Given the description of an element on the screen output the (x, y) to click on. 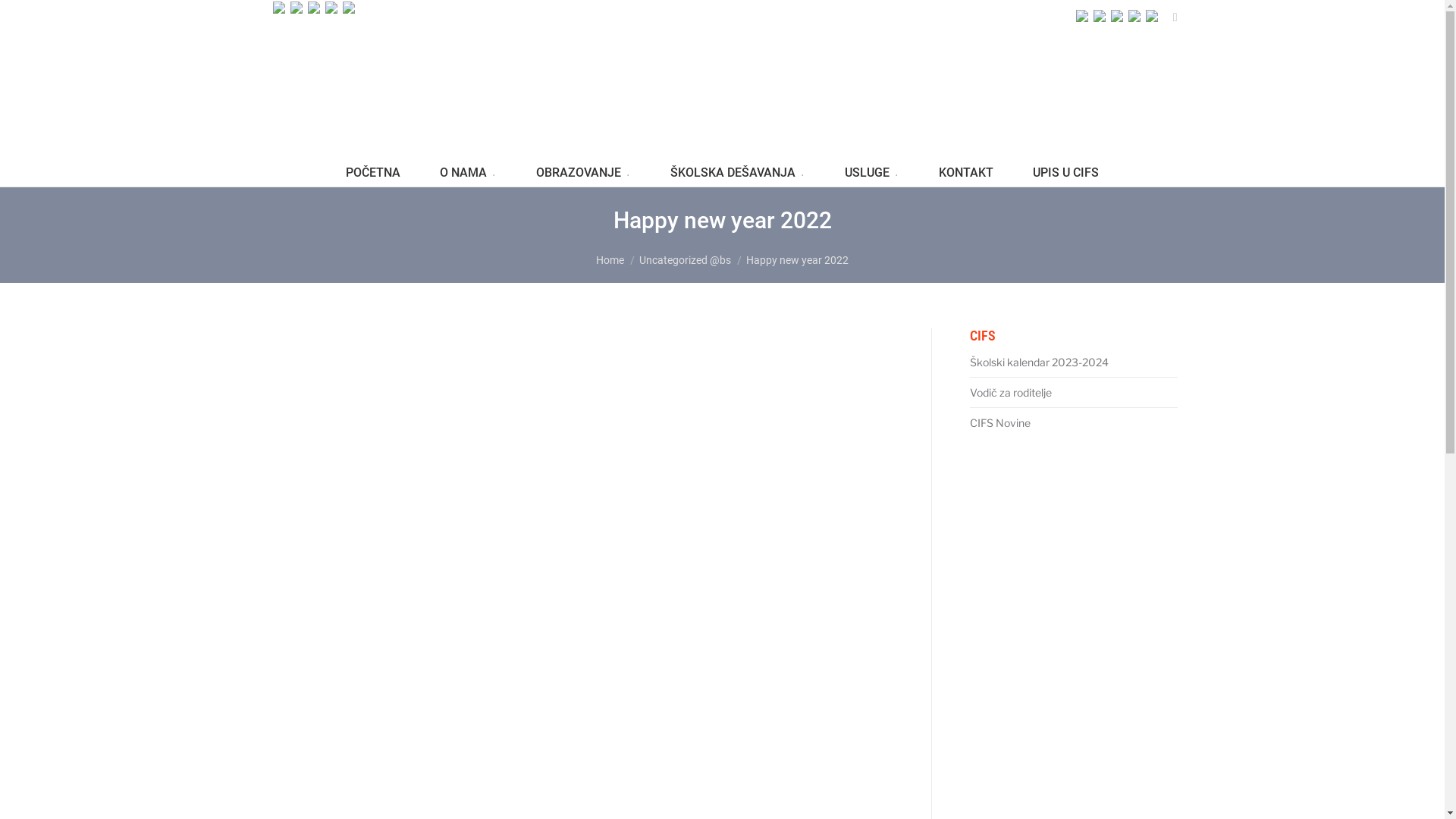
O NAMA Element type: text (467, 174)
USLUGE Element type: text (871, 174)
CIFS Novine Element type: text (999, 422)
Go! Element type: text (23, 16)
KONTAKT Element type: text (965, 174)
Home Element type: text (610, 260)
OBRAZOVANJE Element type: text (583, 174)
Uncategorized @bs Element type: text (685, 260)
UPIS U CIFS Element type: text (1065, 174)
